Given the description of an element on the screen output the (x, y) to click on. 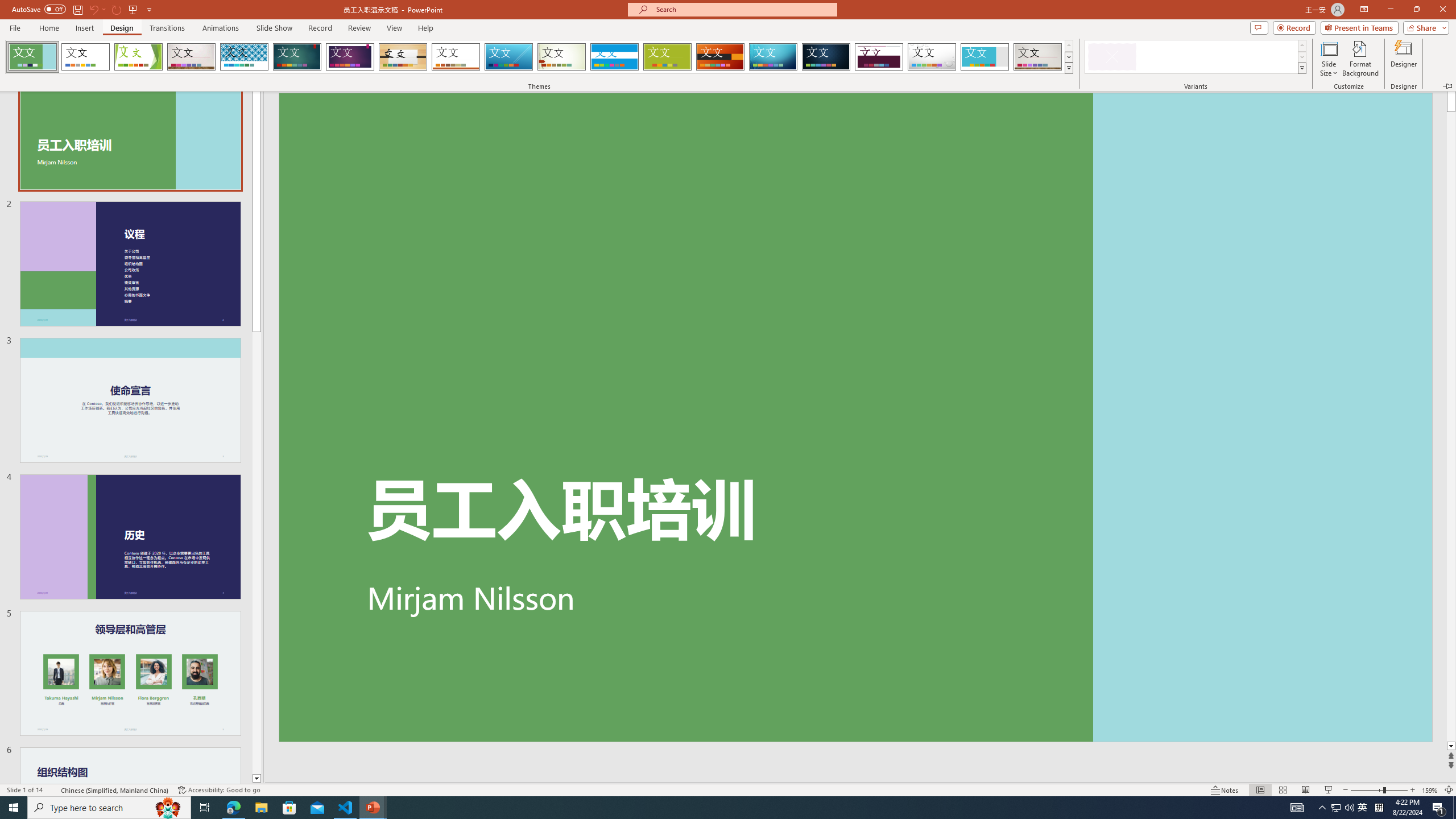
PowerPoint - 2 running windows (373, 807)
